Given the description of an element on the screen output the (x, y) to click on. 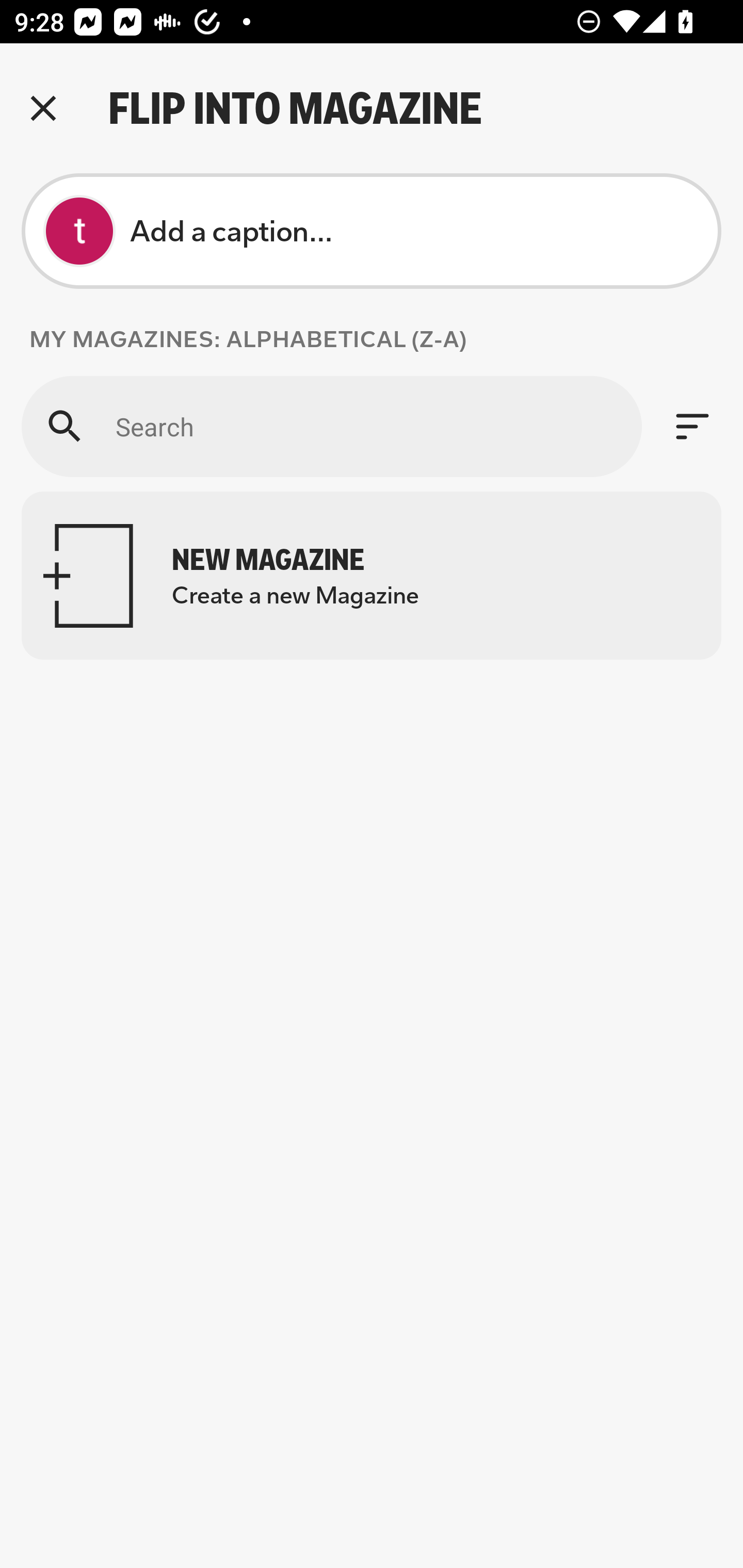
test appium Add a caption… (371, 231)
Search (331, 426)
NEW MAGAZINE Create a new Magazine (371, 575)
